Given the description of an element on the screen output the (x, y) to click on. 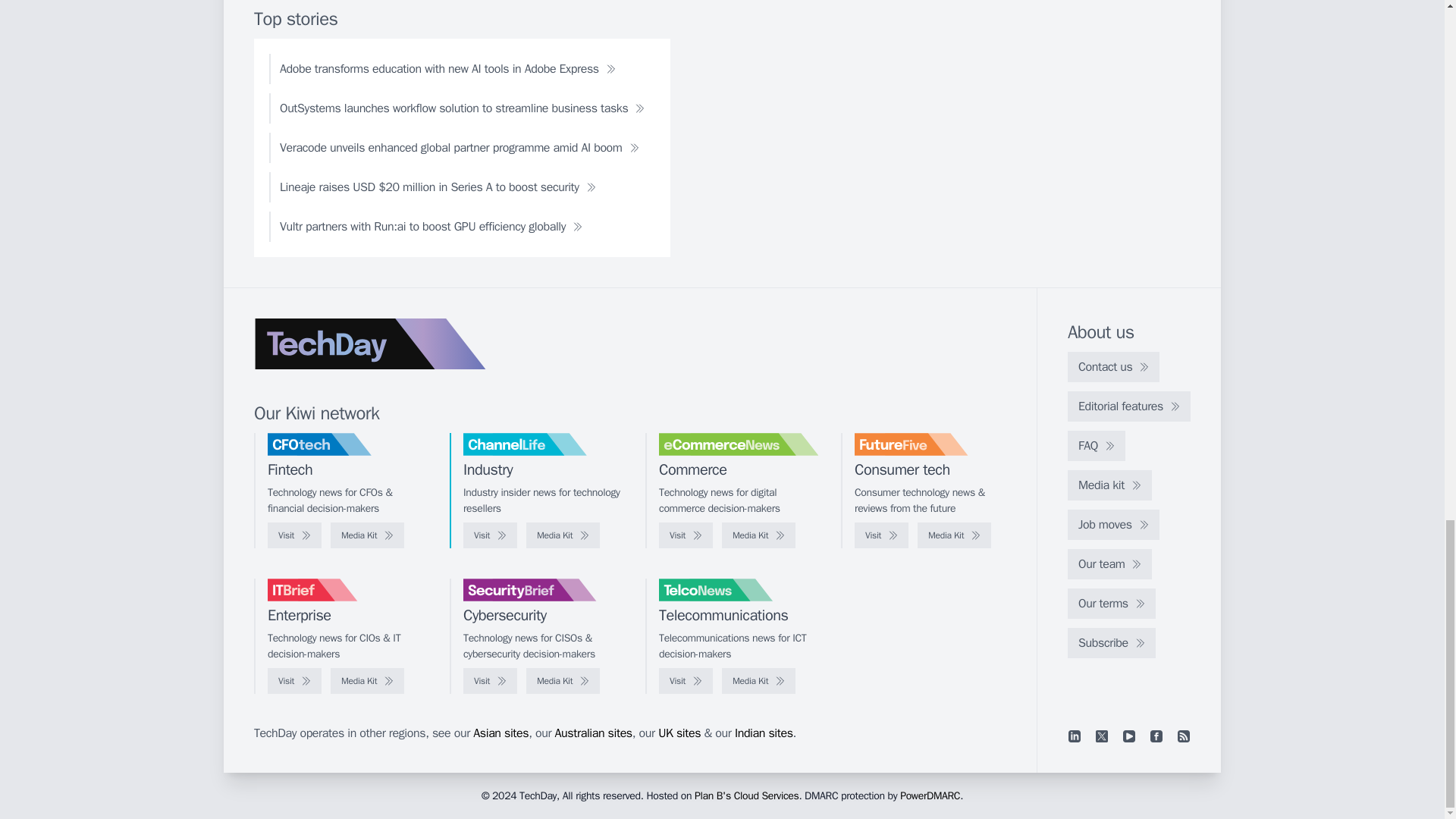
Media Kit (562, 534)
Visit (881, 534)
Visit (489, 534)
Media Kit (367, 680)
Media Kit (954, 534)
Visit (489, 680)
Visit (294, 534)
